Given the description of an element on the screen output the (x, y) to click on. 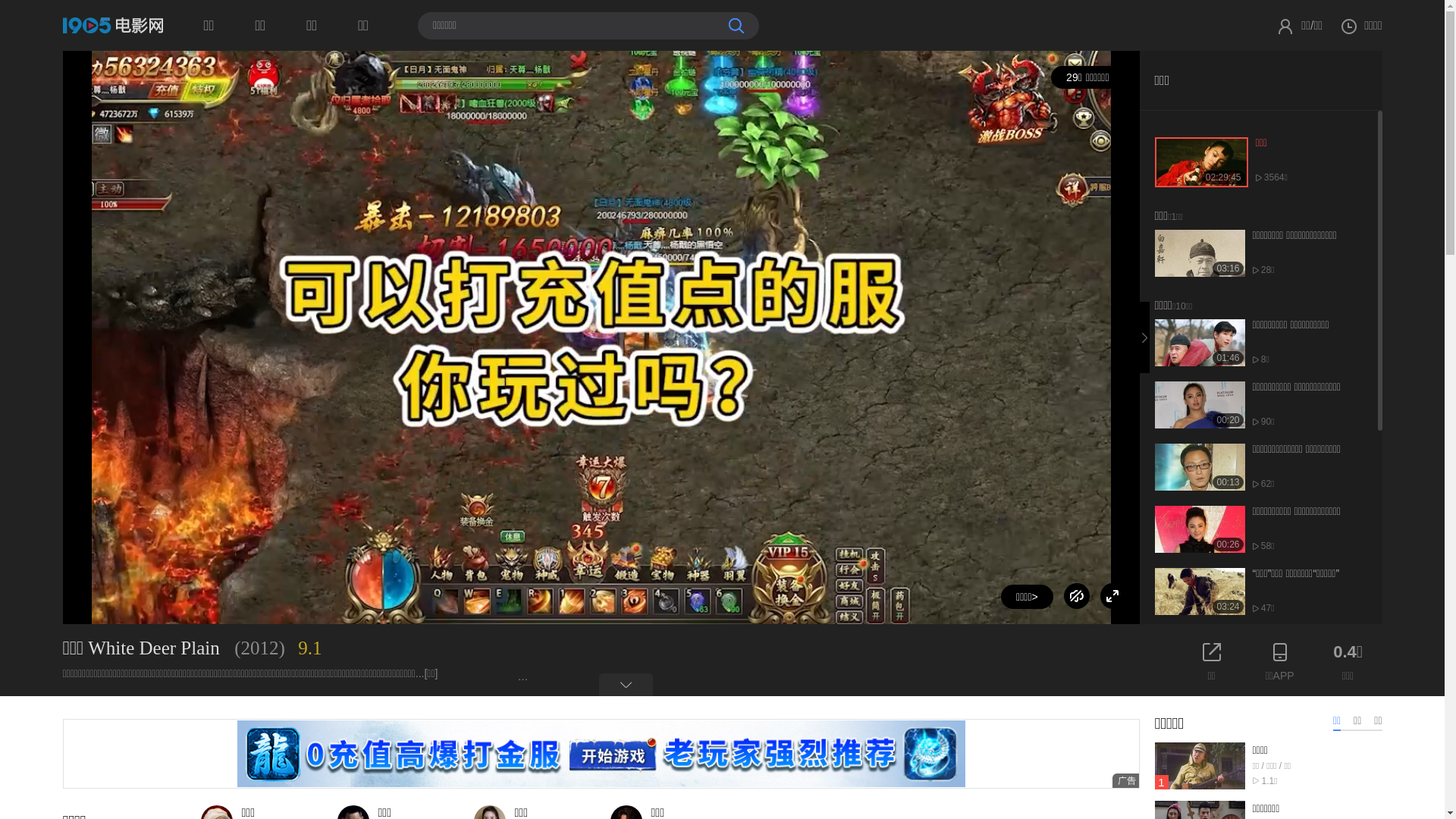
1 Element type: text (1199, 765)
